Given the description of an element on the screen output the (x, y) to click on. 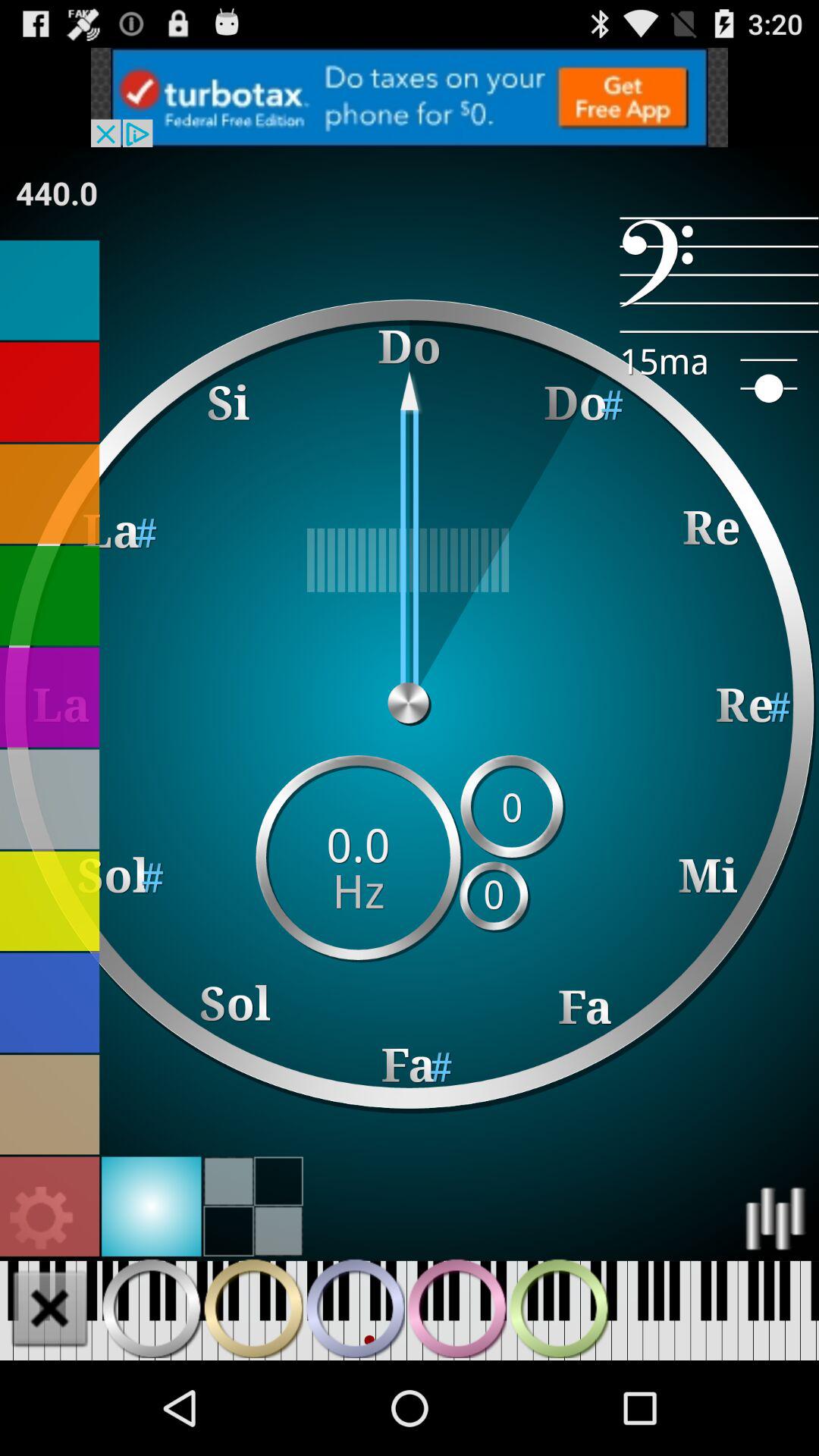
select color option (49, 799)
